Given the description of an element on the screen output the (x, y) to click on. 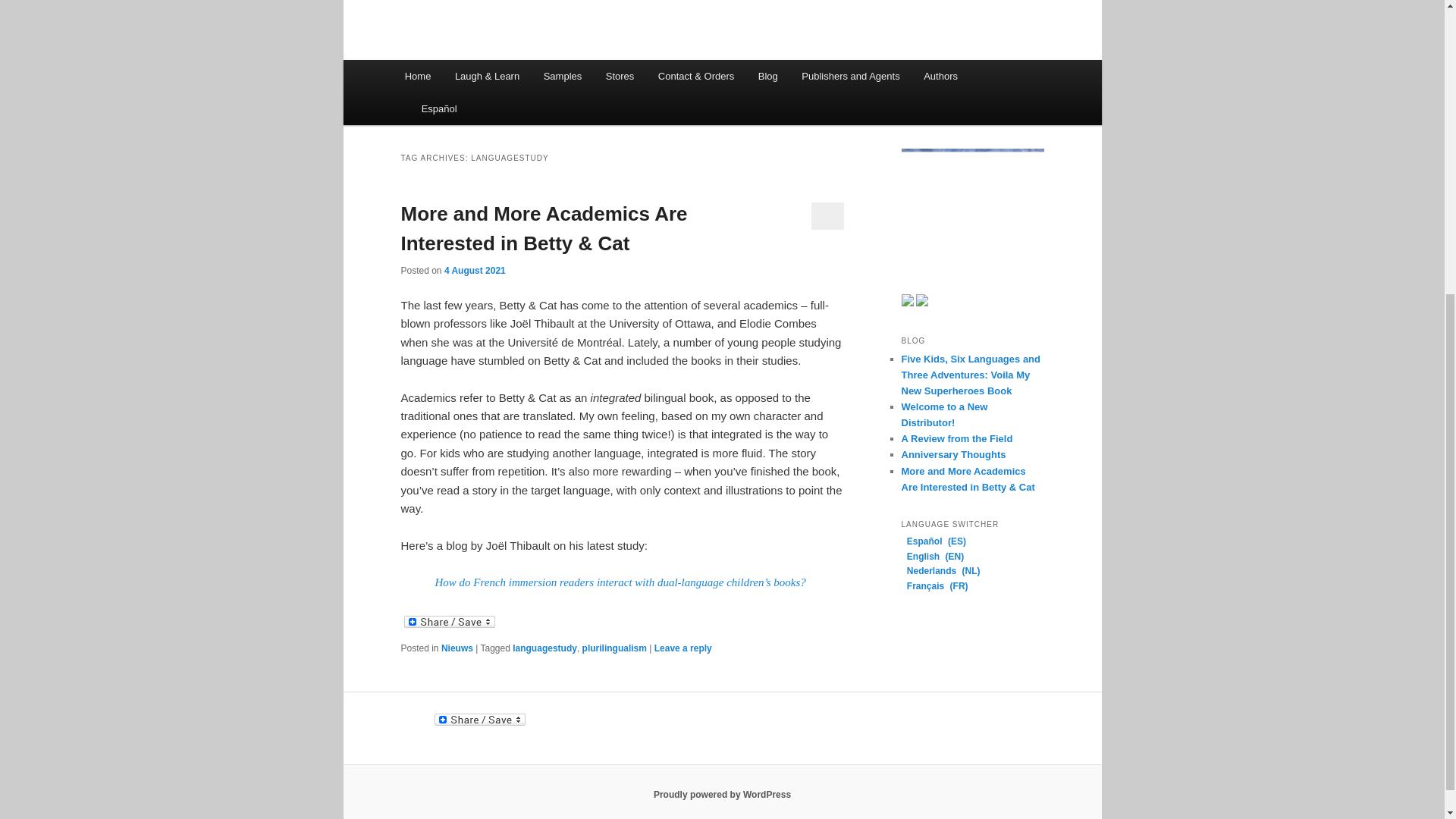
Samples (562, 75)
4 August 2021 (474, 270)
Authors (940, 75)
10:20 (474, 270)
Blog (767, 75)
Publishers and Agents (851, 75)
Nieuws (457, 647)
languagestudy (544, 647)
Stores (620, 75)
Leave a reply (682, 647)
plurilingualism (614, 647)
Semantic Personal Publishing Platform (721, 794)
Home (417, 75)
